Given the description of an element on the screen output the (x, y) to click on. 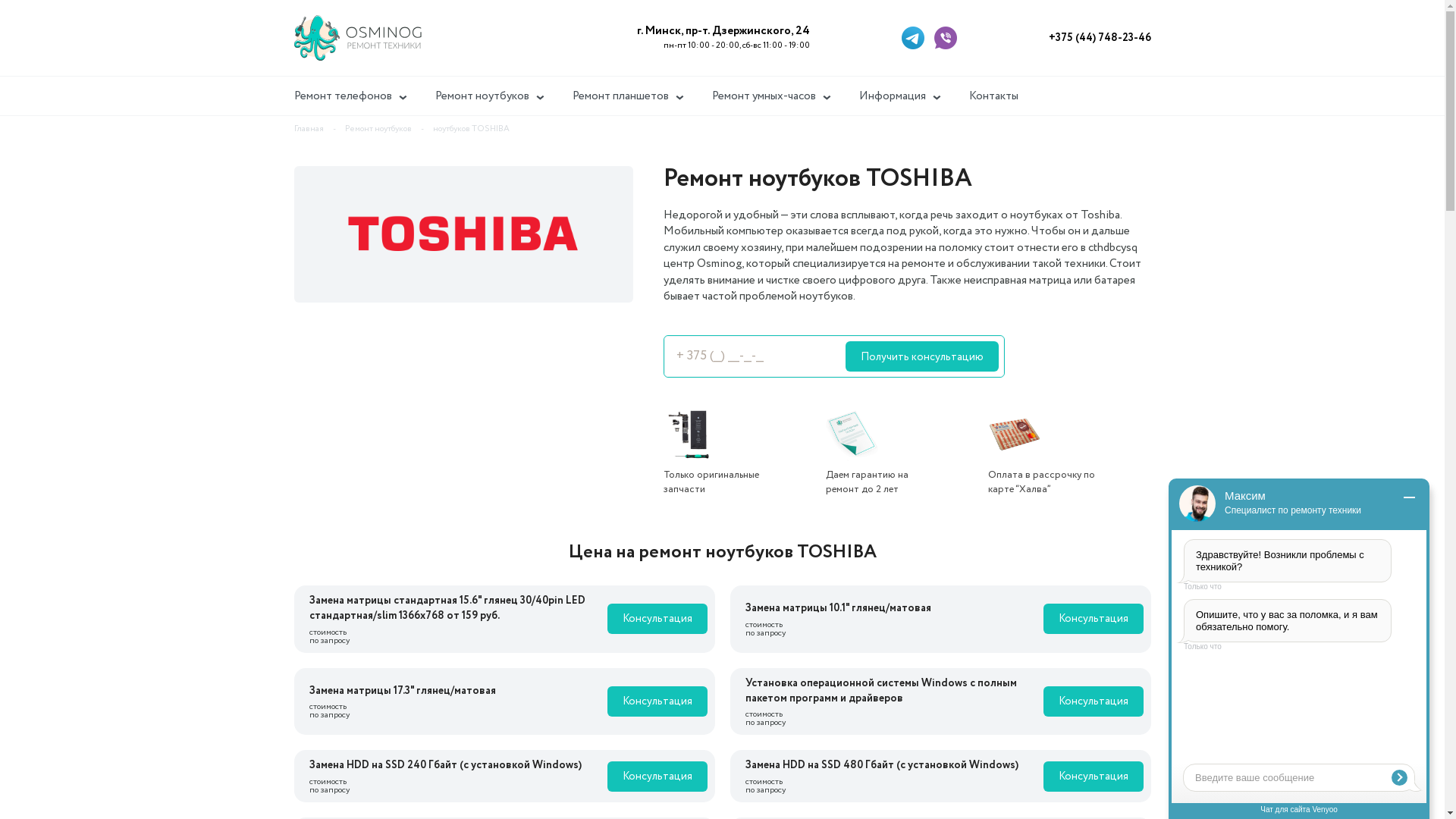
+375 (44) 748-23-46 Element type: text (1099, 37)
